Given the description of an element on the screen output the (x, y) to click on. 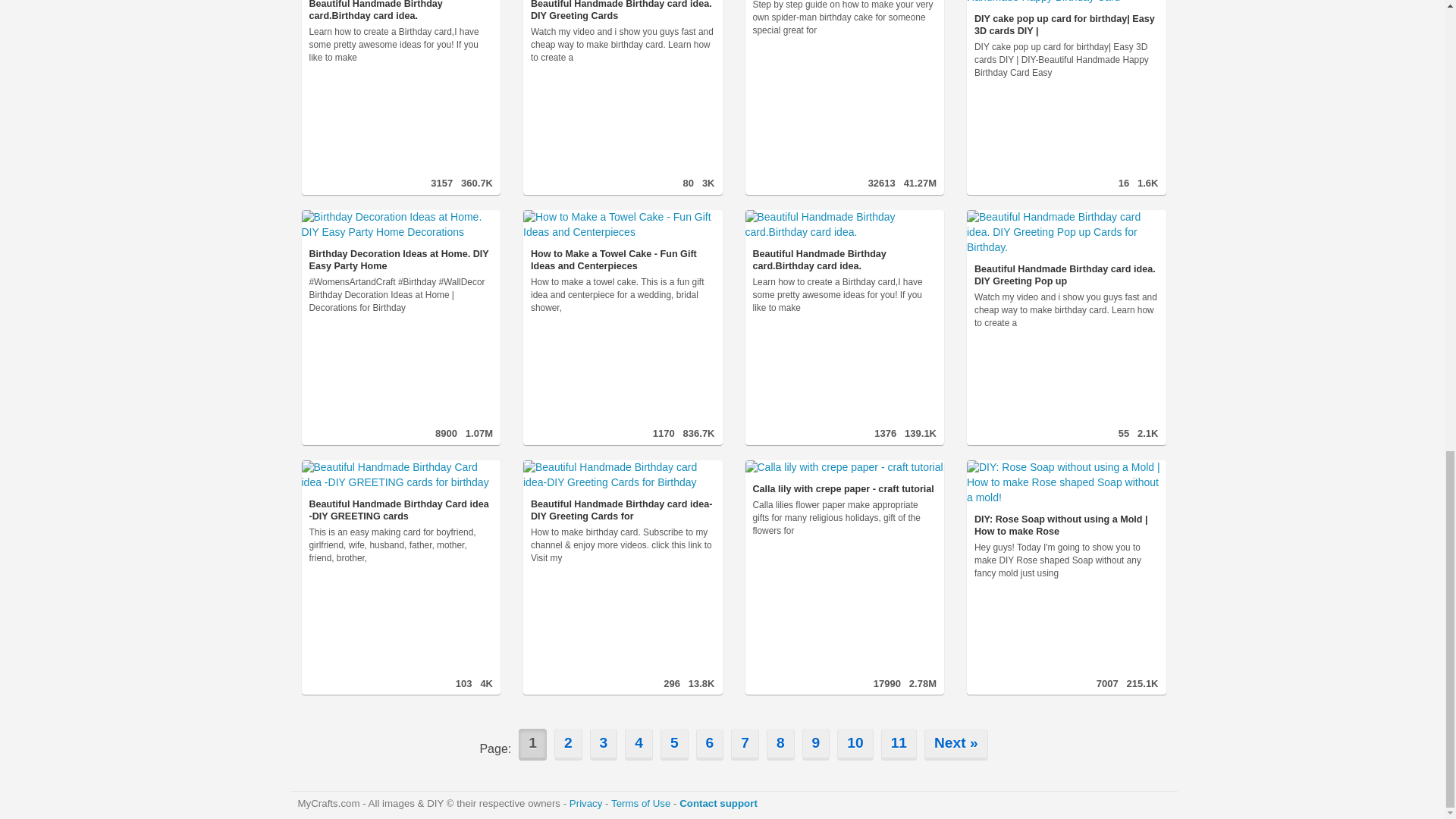
Birthday Decoration Ideas at Home. DIY Easy Party Home (400, 240)
How to Make a Towel Cake - Fun Gift Ideas and Centerpieces (622, 240)
Beautiful Handmade Birthday card.Birthday card idea. (400, 11)
Beautiful Handmade Birthday card.Birthday card idea. (843, 240)
Beautiful Handmade Birthday card idea. DIY Greeting Cards (622, 11)
Beautiful Handmade Birthday card.Birthday card idea. (400, 11)
How to Make a Towel Cake - Fun Gift Ideas and Centerpieces (622, 240)
Beautiful Handmade Birthday card idea. DIY Greeting Pop up (1066, 248)
